Given the description of an element on the screen output the (x, y) to click on. 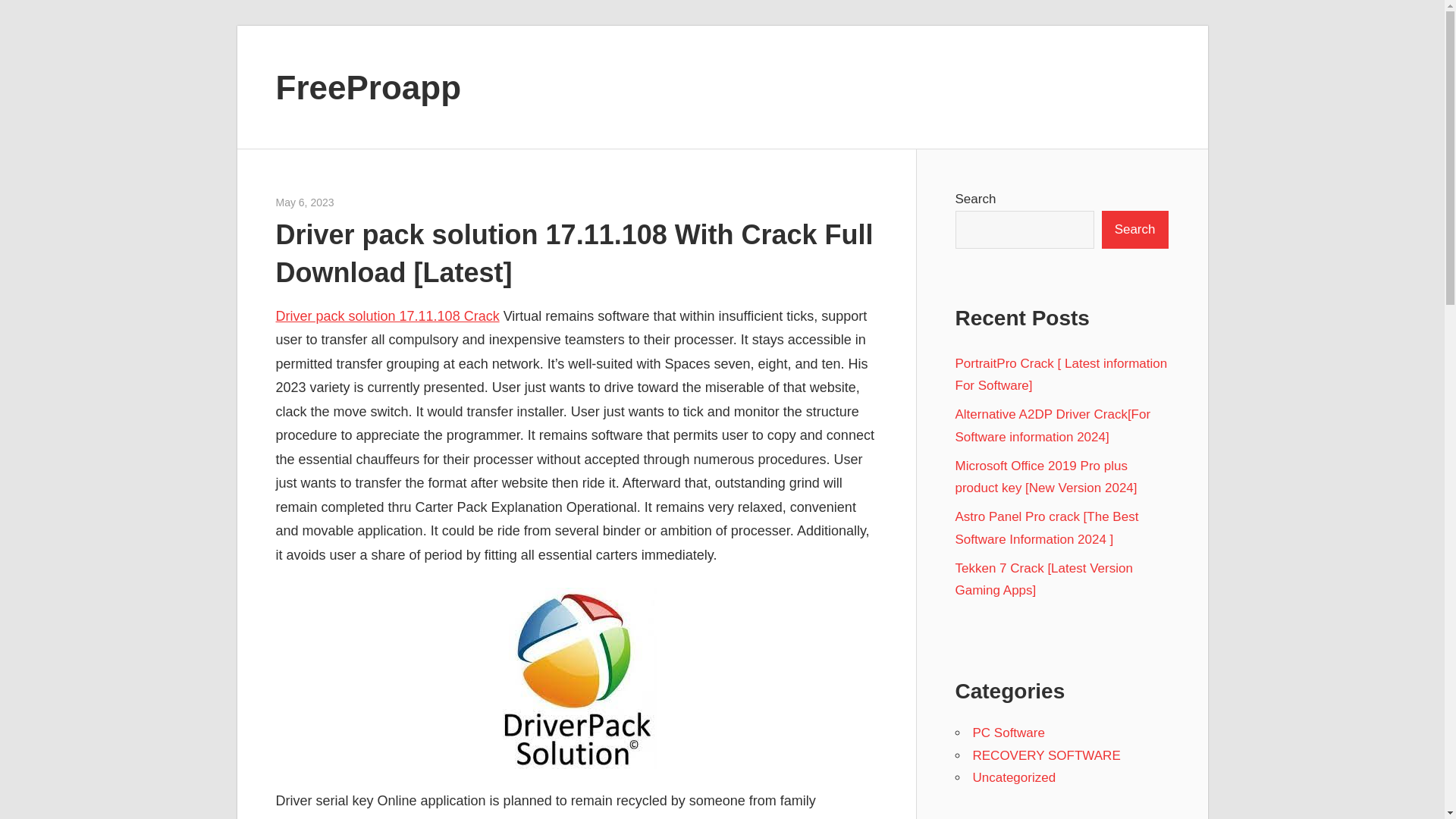
PC Software (1007, 732)
FreeProapp (368, 86)
Search (1135, 229)
RECOVERY SOFTWARE (1045, 754)
6:08 am (305, 202)
May 6, 2023 (305, 202)
Driver pack solution 17.11.108 Crack (387, 315)
Uncategorized (1013, 777)
admin (348, 202)
